Given the description of an element on the screen output the (x, y) to click on. 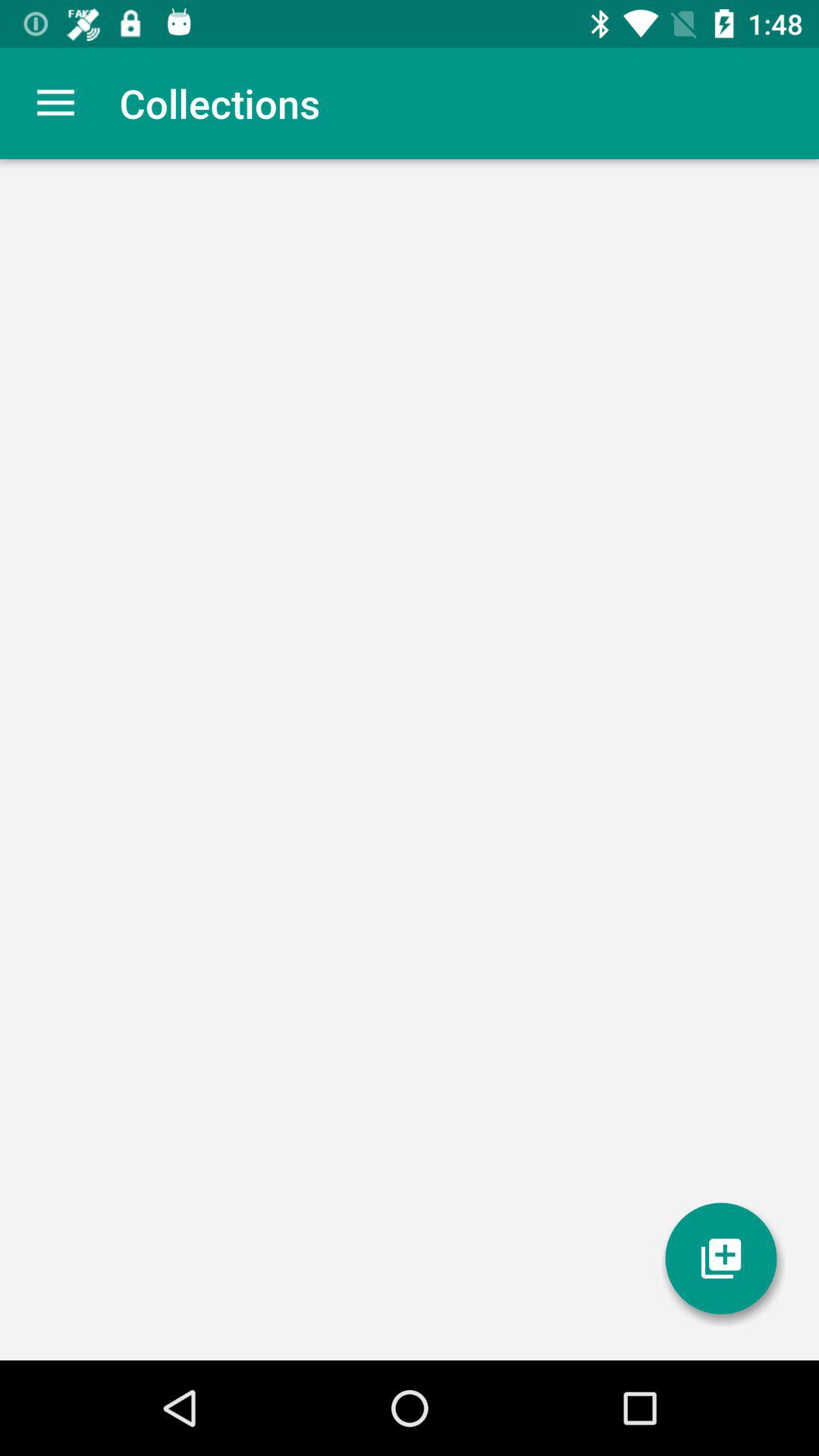
open the item at the bottom right corner (721, 1258)
